Given the description of an element on the screen output the (x, y) to click on. 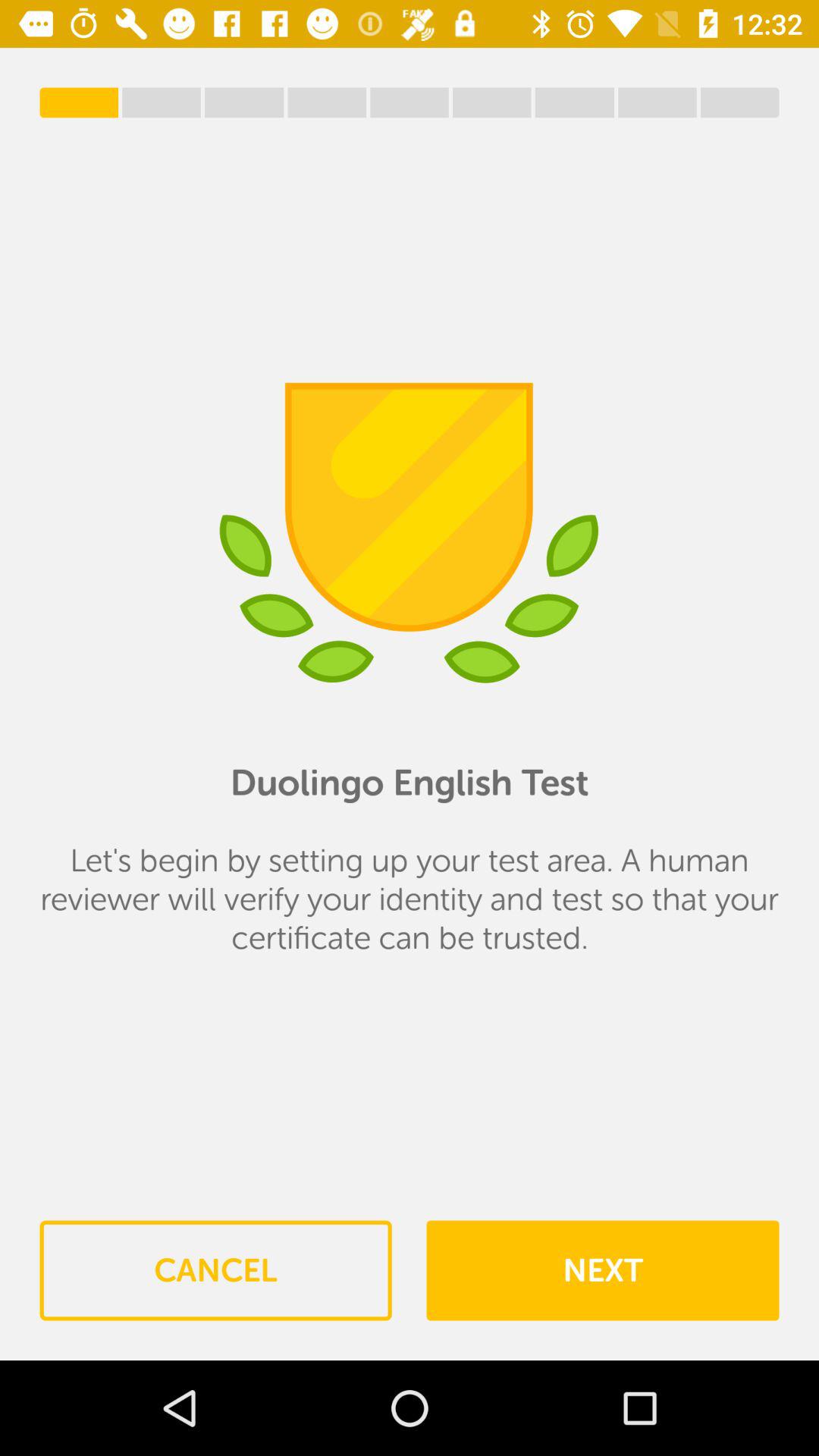
select next item (602, 1270)
